Given the description of an element on the screen output the (x, y) to click on. 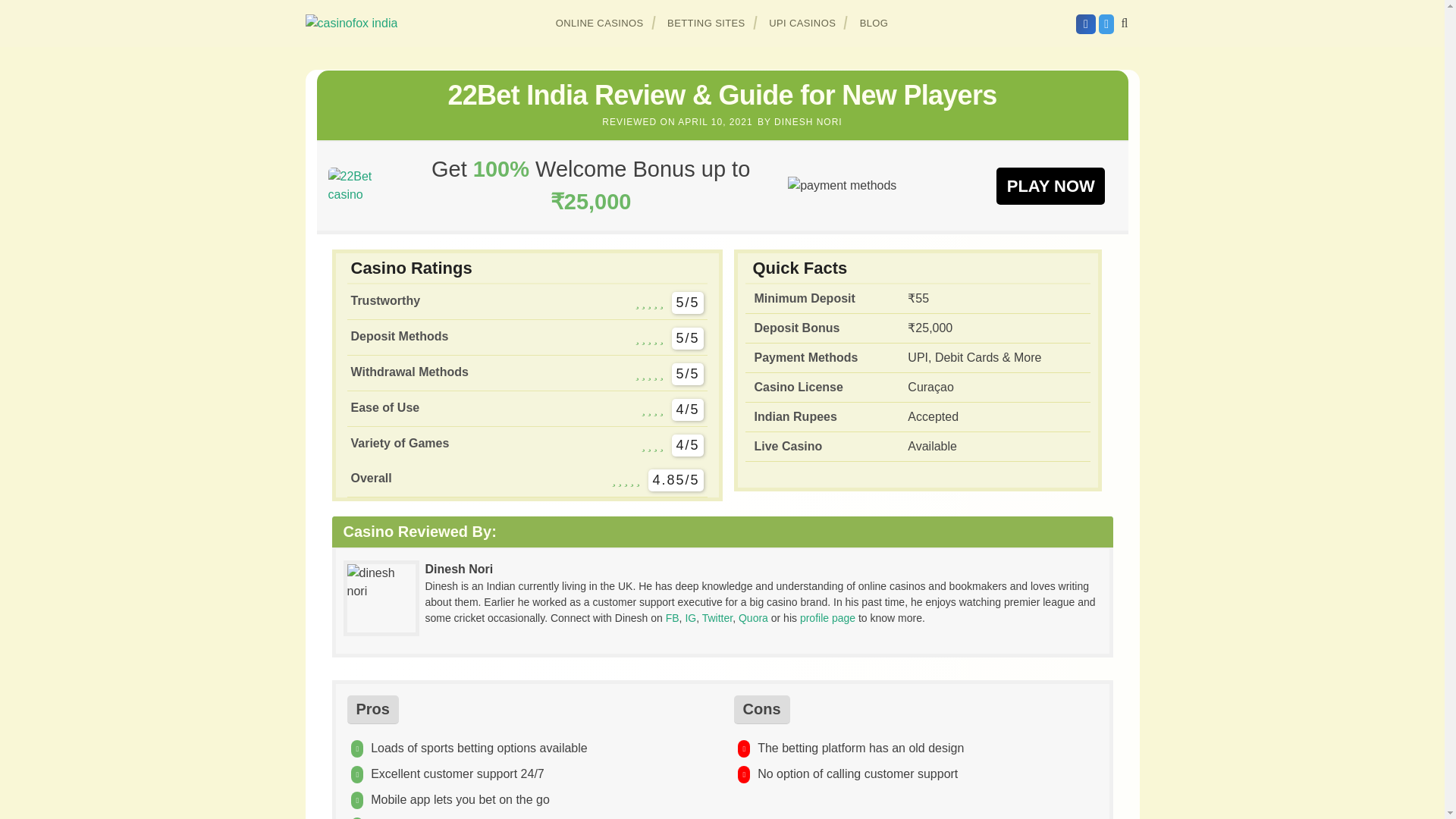
BLOG (874, 23)
ONLINE CASINOS (599, 23)
FB (672, 617)
BETTING SITES (706, 23)
profile page (827, 617)
Quora (753, 617)
UPI CASINOS (801, 23)
22Bet (1050, 185)
PLAY NOW (1050, 185)
IG (689, 617)
